Given the description of an element on the screen output the (x, y) to click on. 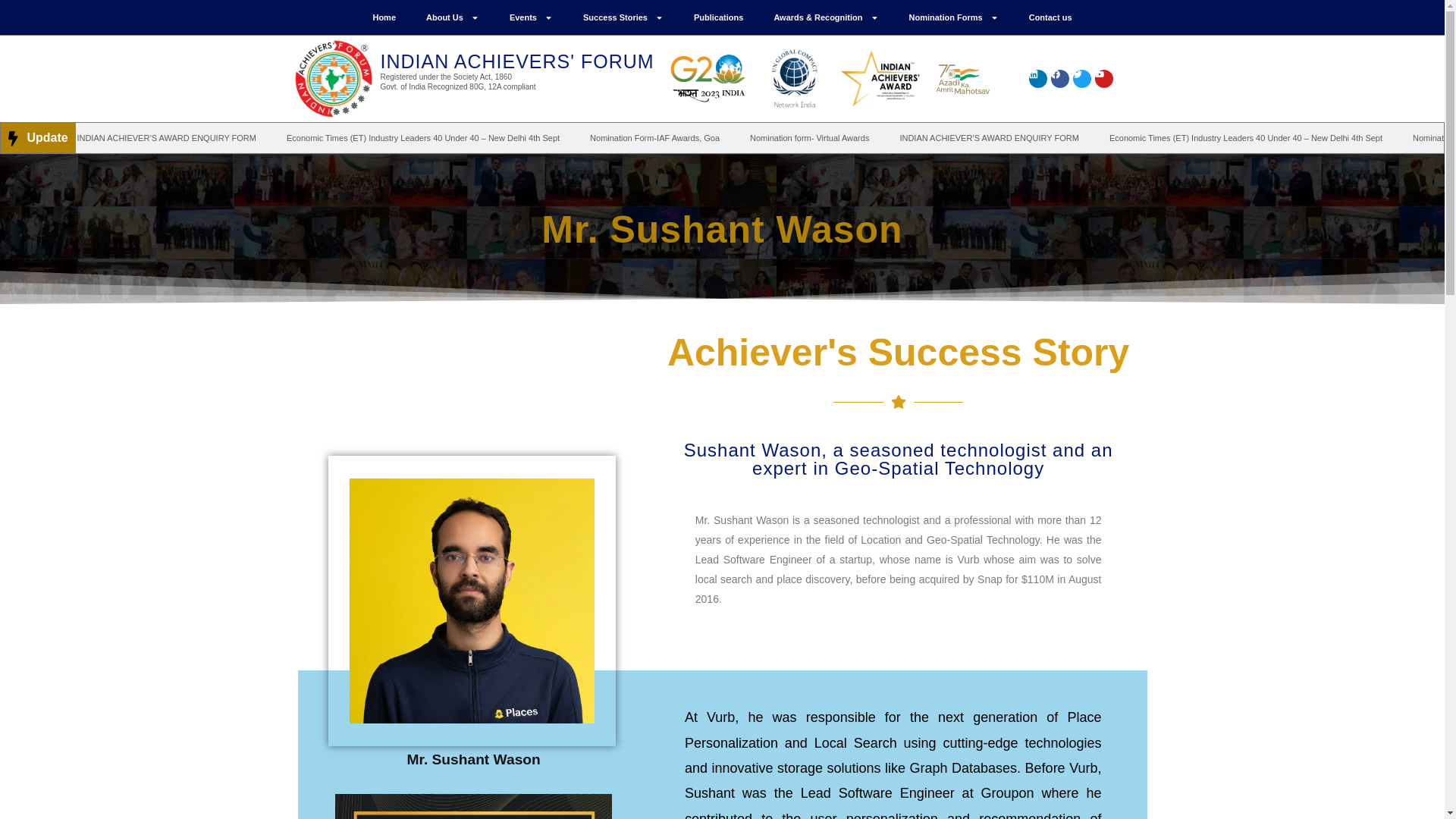
About Us (452, 17)
Publications (718, 17)
Contact us (1050, 17)
Home (383, 17)
Events (531, 17)
Success Stories (622, 17)
Nomination Forms (953, 17)
